Given the description of an element on the screen output the (x, y) to click on. 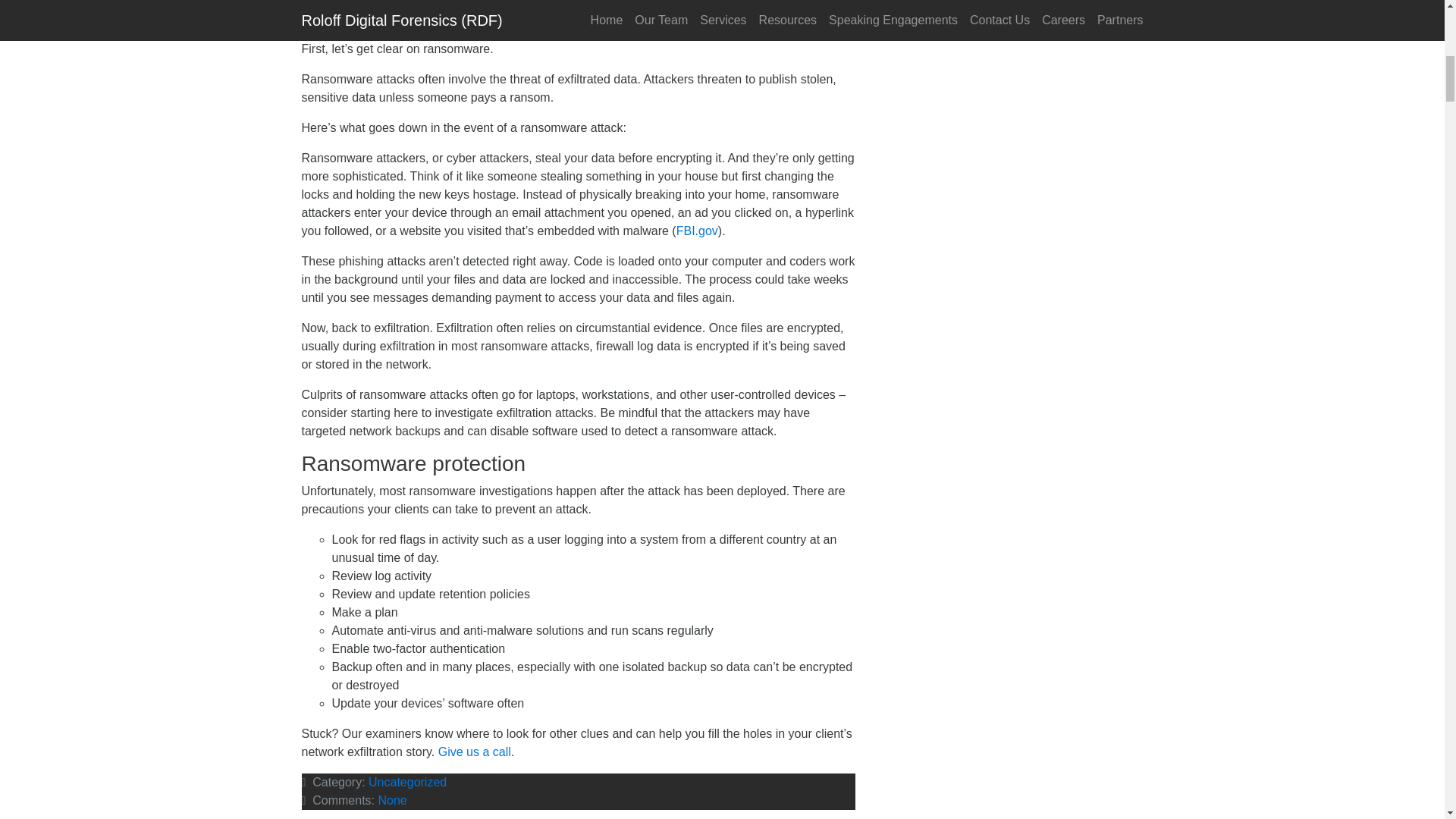
Give us a call (474, 751)
FBI.gov (697, 230)
None (391, 799)
Uncategorized (407, 781)
